Given the description of an element on the screen output the (x, y) to click on. 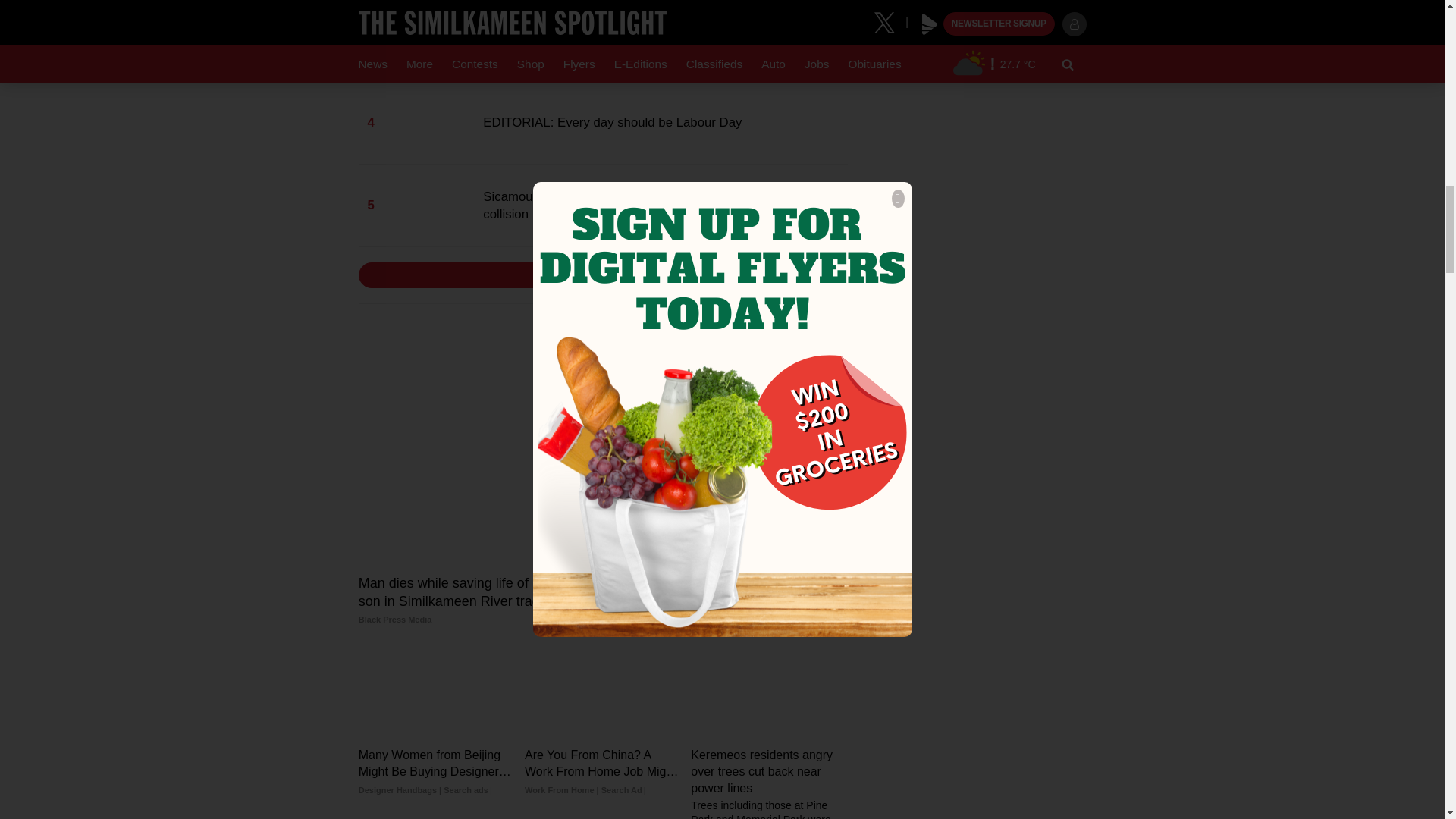
Many Women from Beijing Might Be Buying Designer Handbags (436, 772)
Show Comments (602, 275)
